Given the description of an element on the screen output the (x, y) to click on. 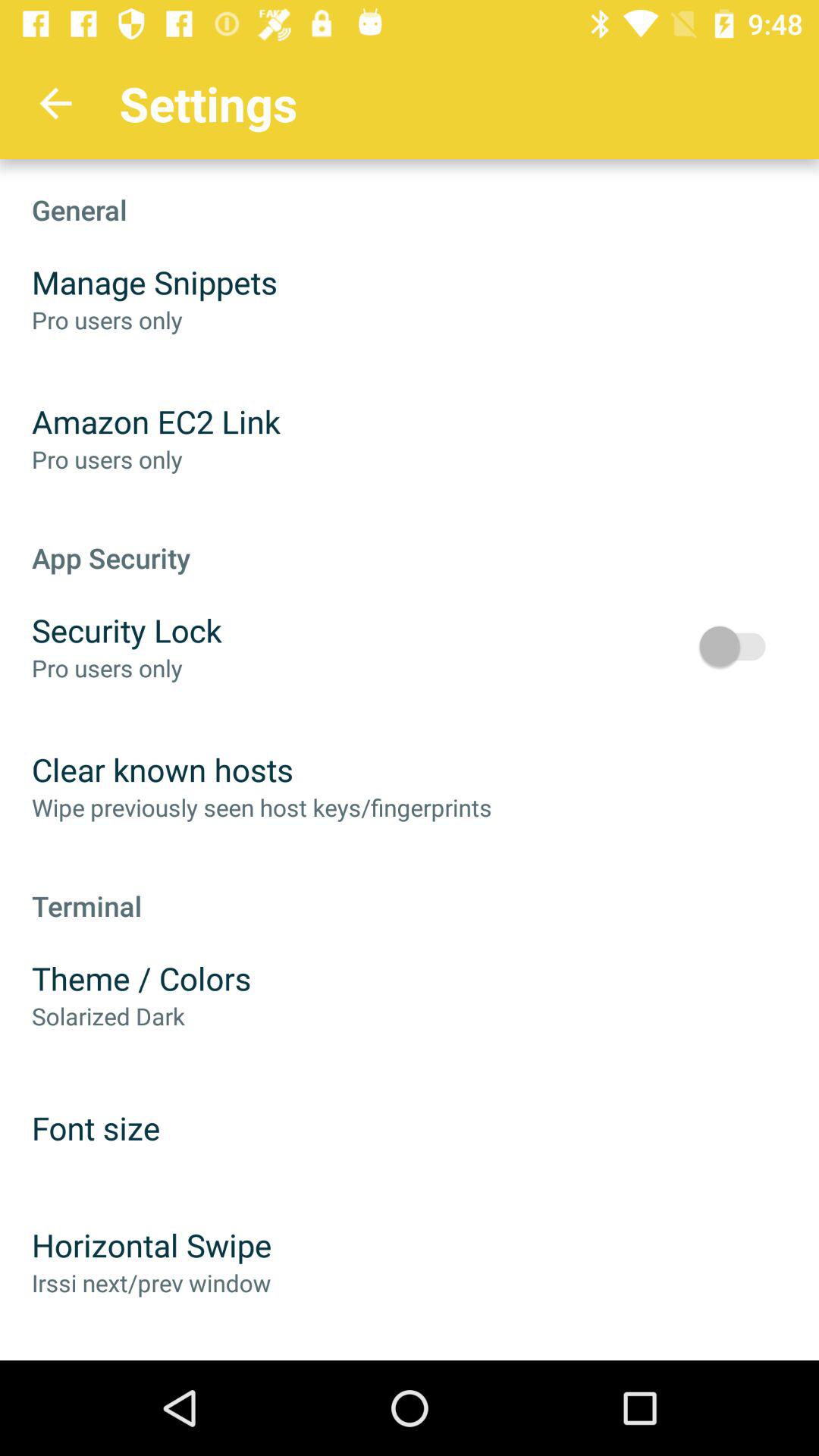
tap item above the pro users only icon (126, 629)
